Given the description of an element on the screen output the (x, y) to click on. 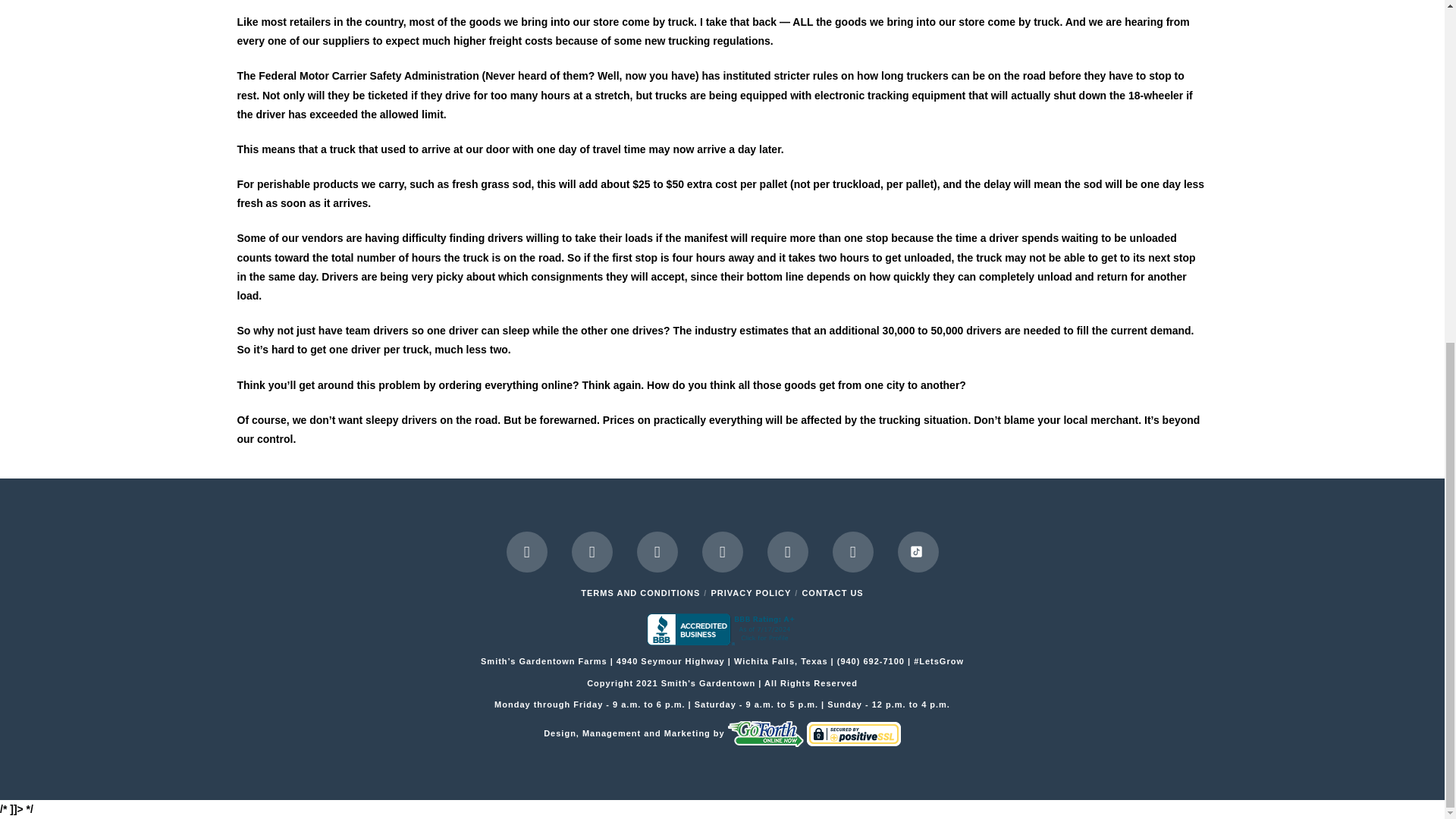
LinkedIn (657, 551)
Pinterest (852, 551)
RSS (918, 551)
Instagram (787, 551)
Facebook (526, 551)
YouTube (721, 551)
